Given the description of an element on the screen output the (x, y) to click on. 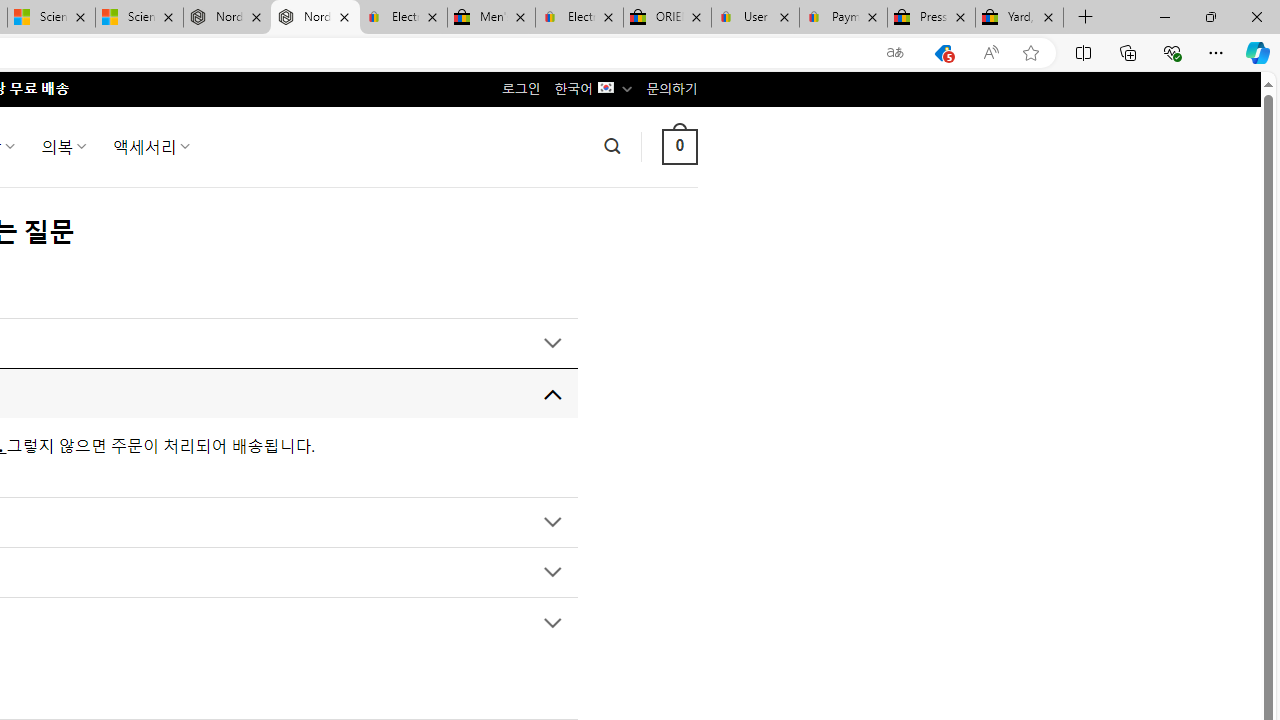
Payments Terms of Use | eBay.com (843, 17)
Nordace - FAQ (315, 17)
 0  (679, 146)
Press Room - eBay Inc. (931, 17)
